Given the description of an element on the screen output the (x, y) to click on. 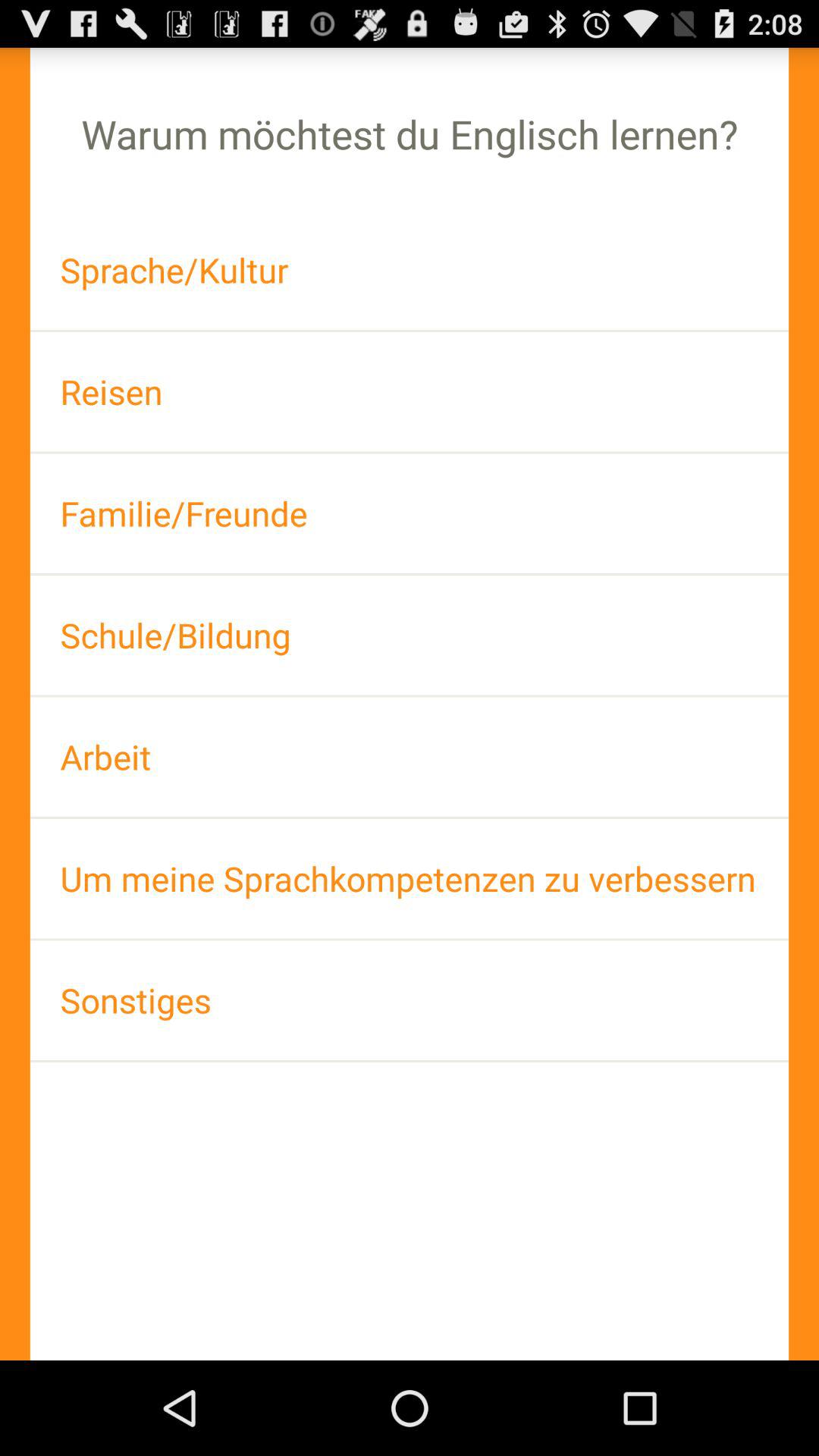
jump to the um meine sprachkompetenzen item (409, 878)
